Given the description of an element on the screen output the (x, y) to click on. 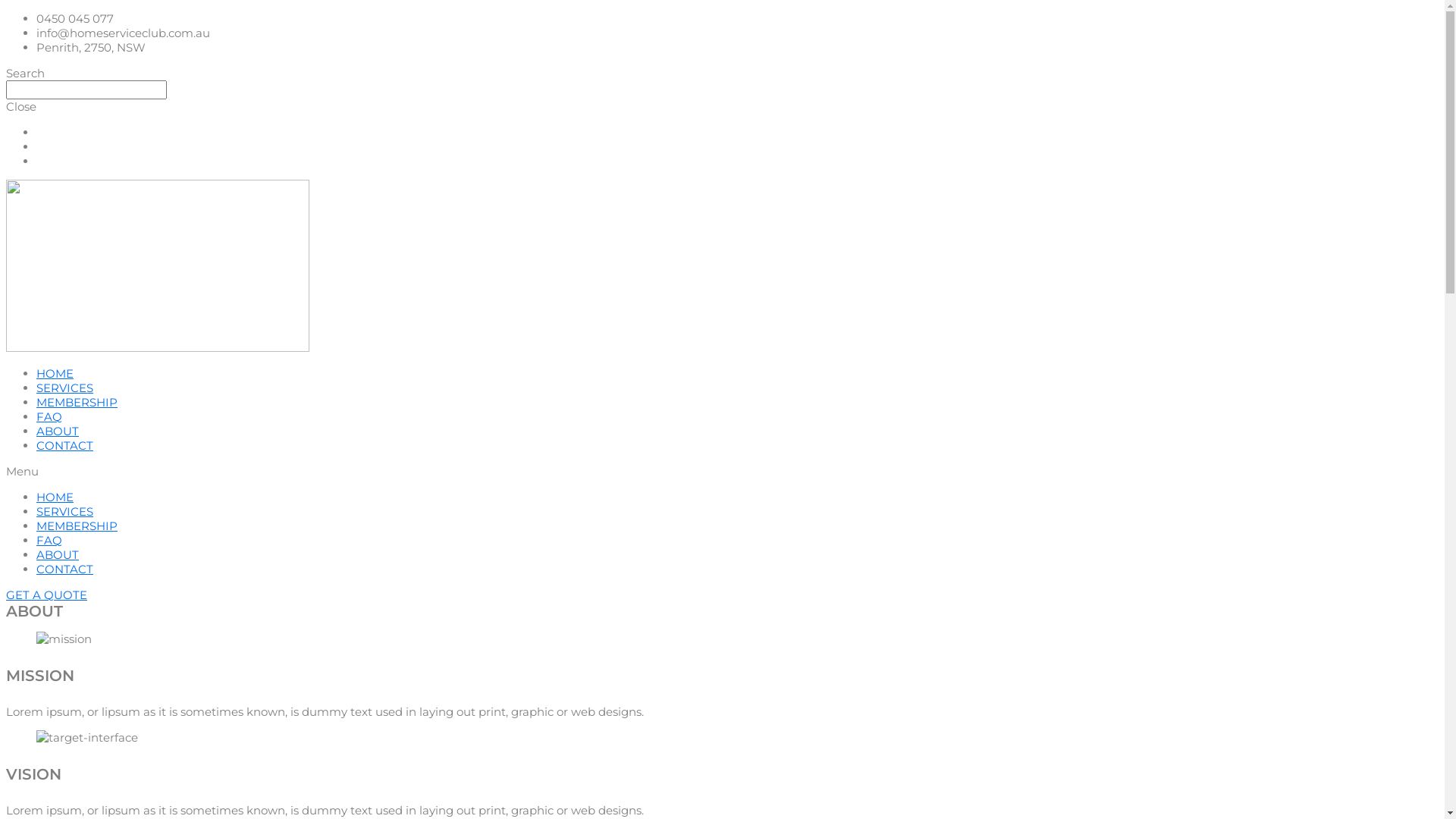
ABOUT Element type: text (57, 554)
Search Element type: hover (86, 89)
MEMBERSHIP Element type: text (76, 525)
target-interface Element type: hover (87, 737)
MEMBERSHIP Element type: text (76, 402)
GET A QUOTE Element type: text (46, 594)
ABOUT Element type: text (57, 430)
CONTACT Element type: text (64, 568)
Skip to content Element type: text (5, 10)
CONTACT Element type: text (64, 445)
SERVICES Element type: text (64, 511)
FAQ Element type: text (49, 416)
FAQ Element type: text (49, 540)
mission Element type: hover (63, 638)
HOME Element type: text (54, 373)
SERVICES Element type: text (64, 387)
HOME Element type: text (54, 496)
